Given the description of an element on the screen output the (x, y) to click on. 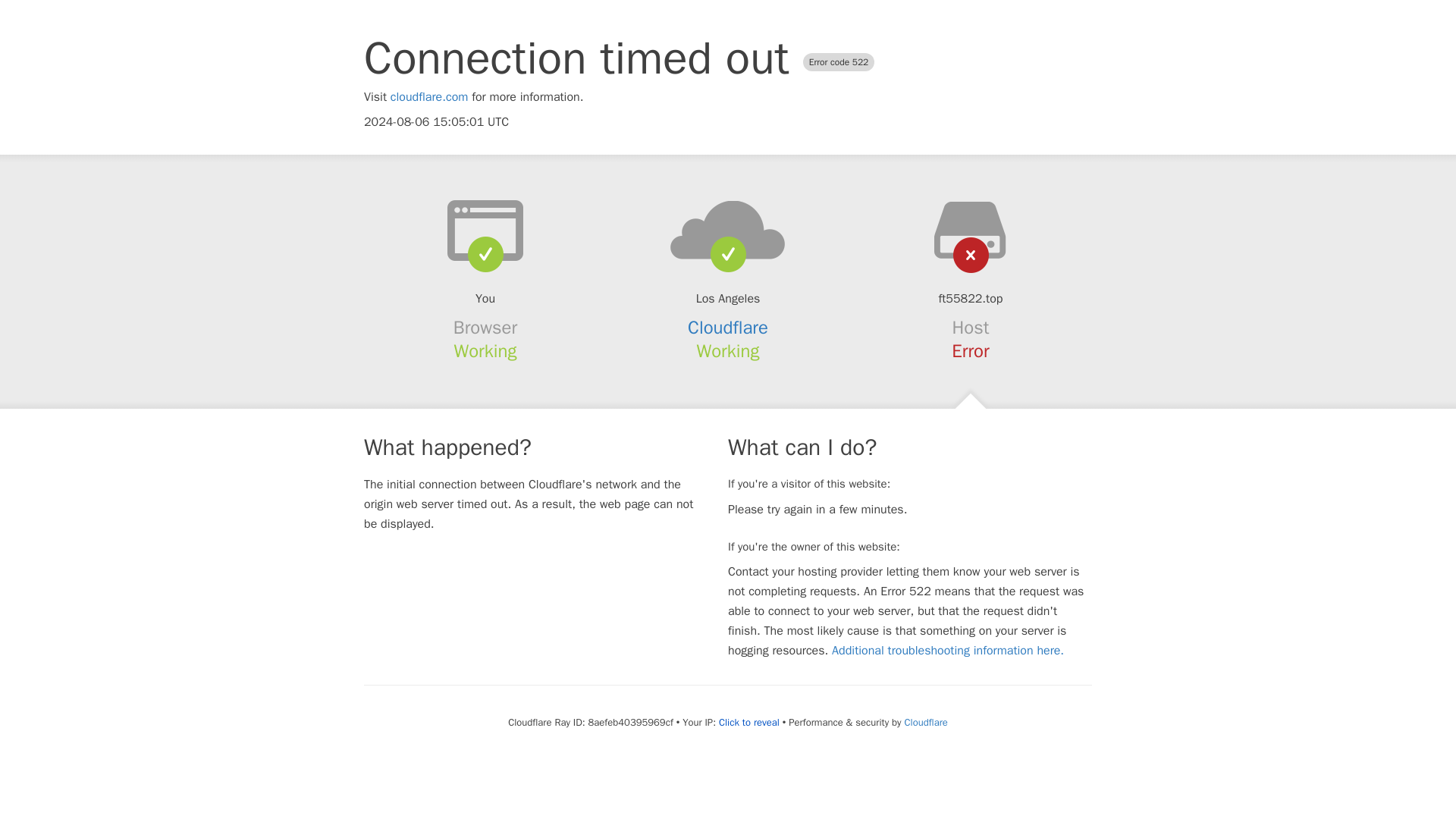
Click to reveal (748, 722)
Cloudflare (727, 327)
Additional troubleshooting information here. (947, 650)
cloudflare.com (429, 96)
Cloudflare (925, 721)
